Given the description of an element on the screen output the (x, y) to click on. 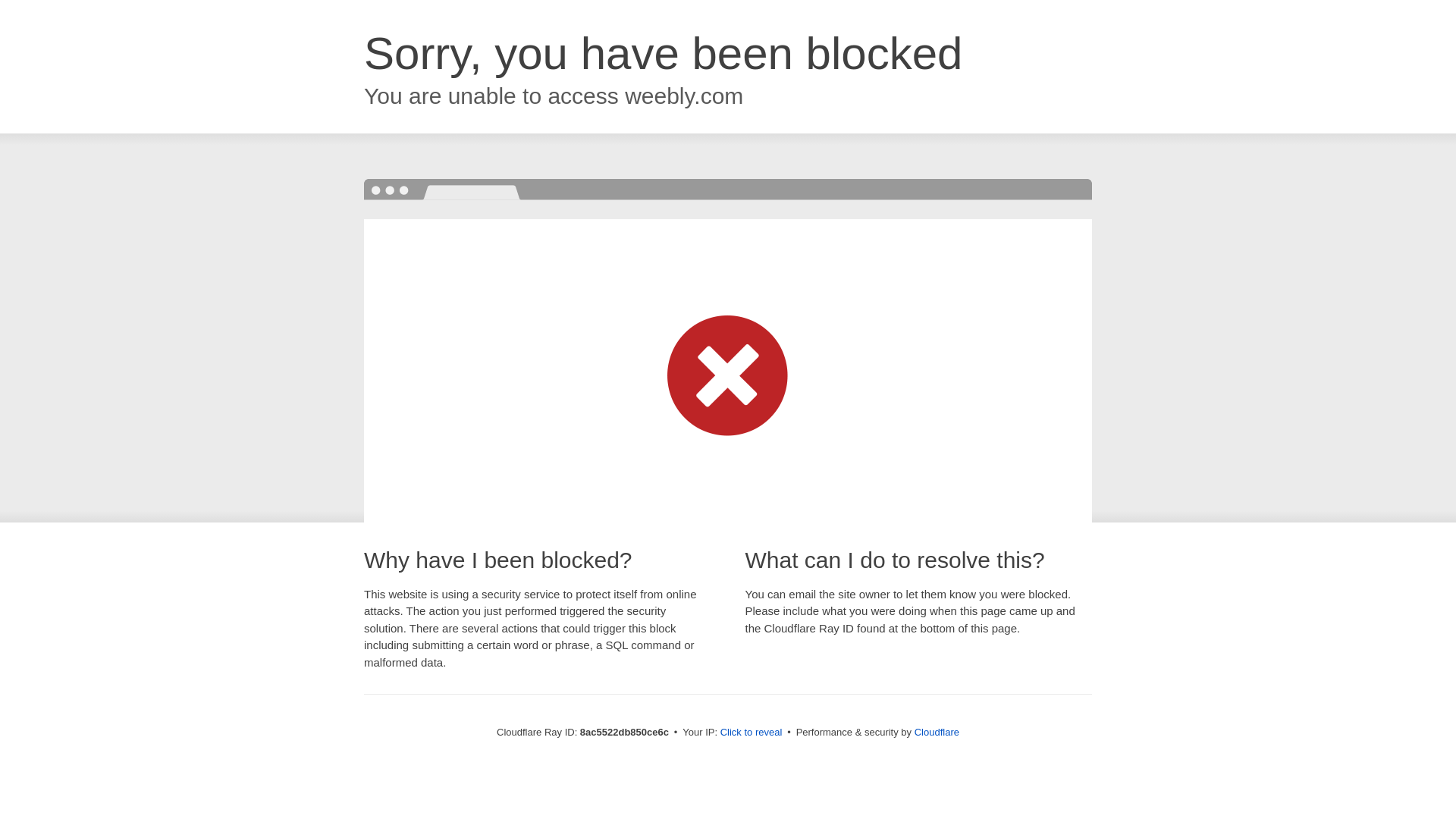
Click to reveal (751, 732)
Cloudflare (936, 731)
